Given the description of an element on the screen output the (x, y) to click on. 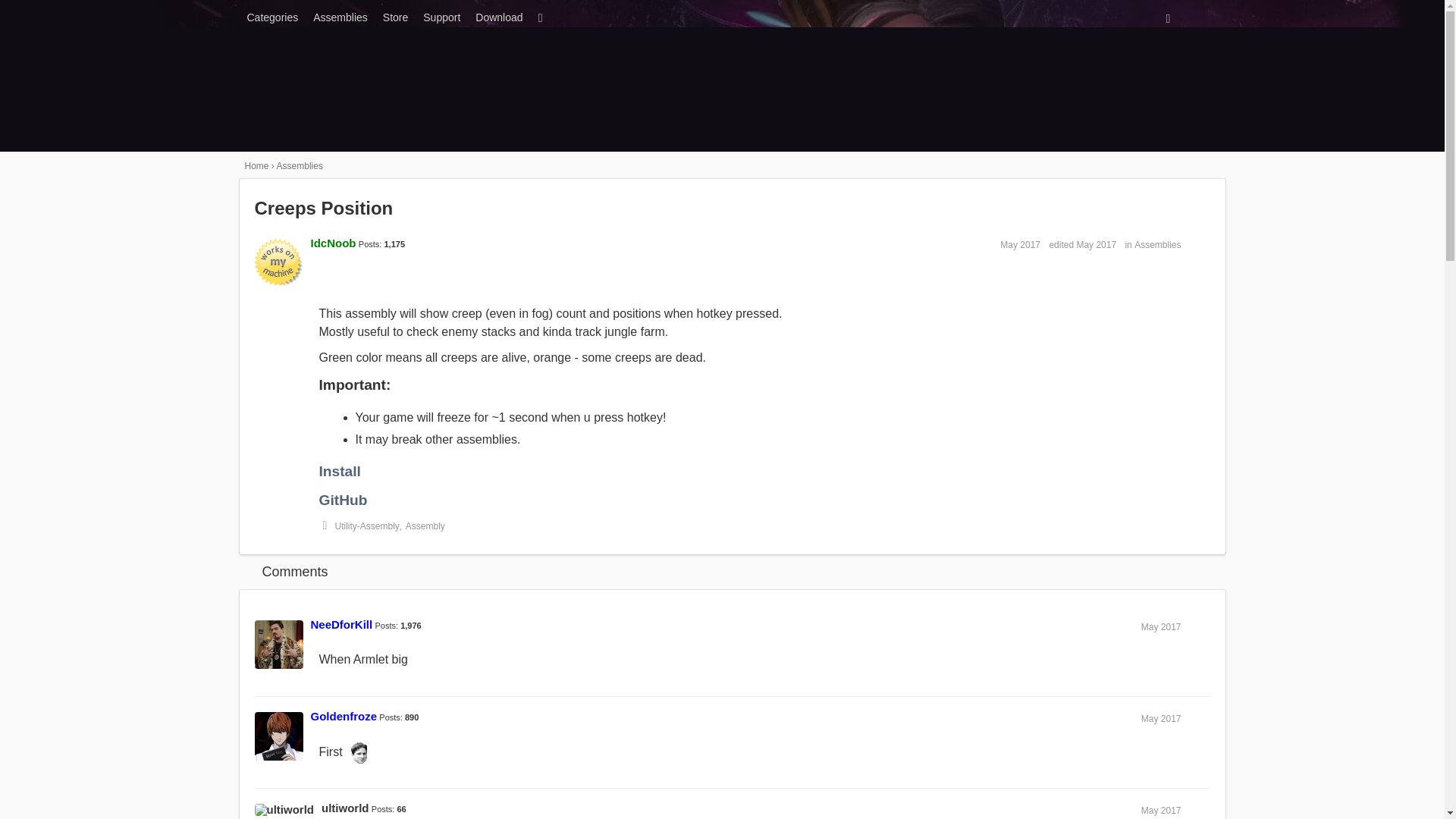
ultiworld (345, 807)
May 2017 (1020, 244)
GitHub (342, 499)
IdcNoob (333, 242)
Install (338, 471)
May 2017 (1160, 810)
May 2017 (1160, 718)
May 25, 2017  2:27AM (1160, 810)
kappa (359, 752)
Utility-Assembly (366, 525)
Assemblies (299, 165)
Sign In (1030, 15)
Goldenfroze (344, 716)
Home (255, 165)
May 2017 (1160, 626)
